Given the description of an element on the screen output the (x, y) to click on. 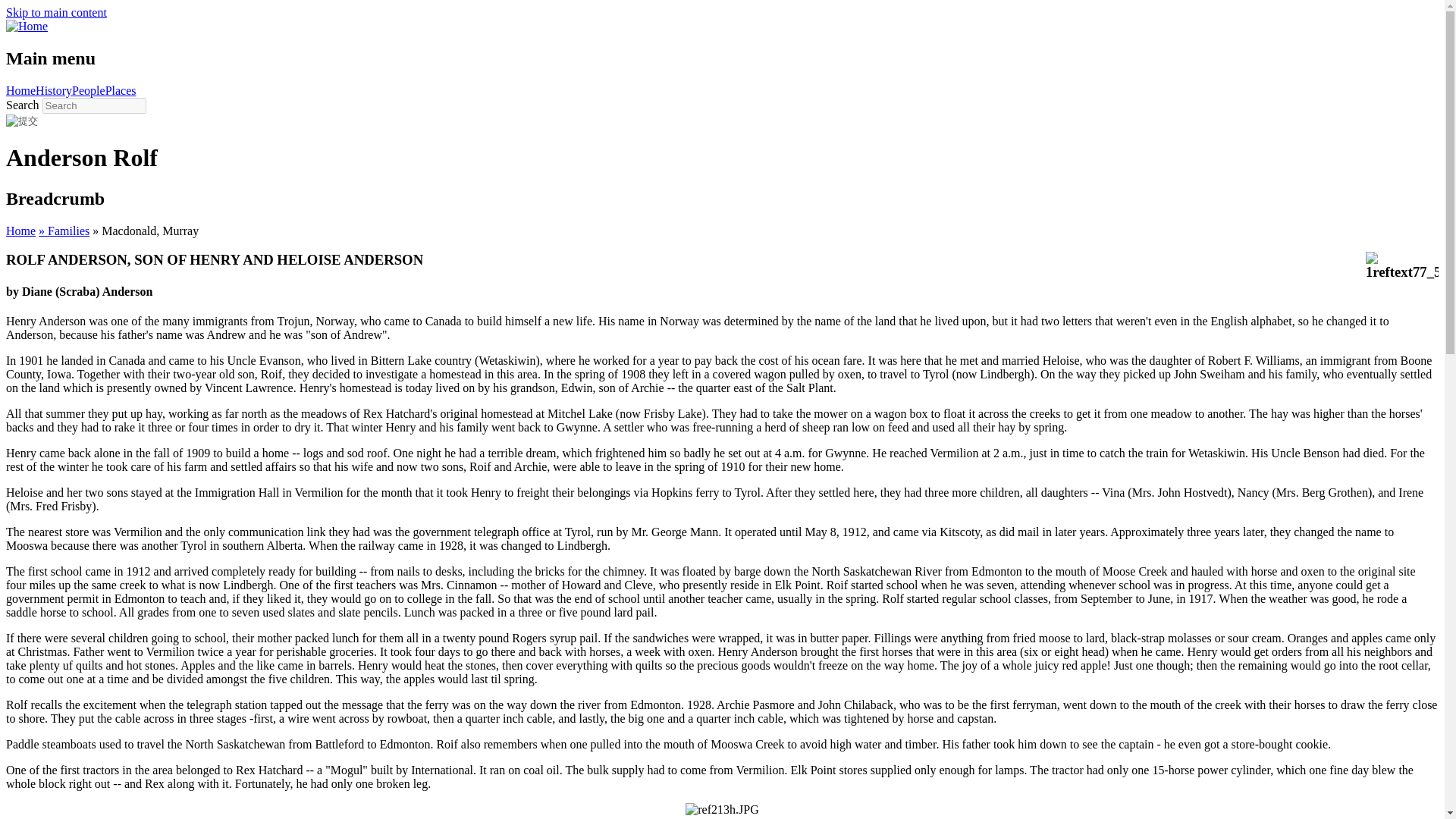
People (87, 90)
Places (120, 90)
Home (19, 90)
Home (19, 230)
Skip to main content (55, 11)
History (52, 90)
Enter the terms you wish to search for. (94, 105)
